Given the description of an element on the screen output the (x, y) to click on. 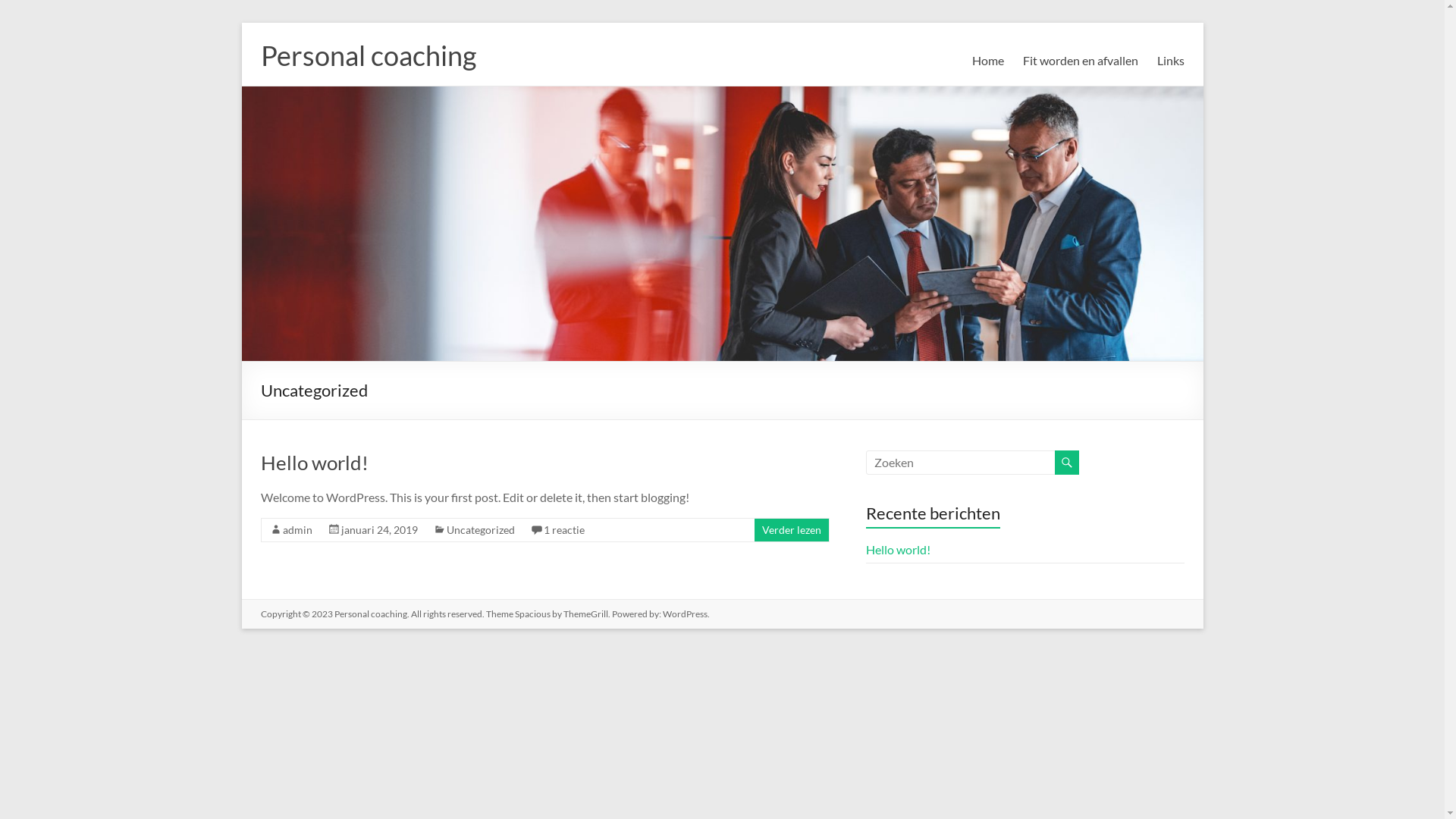
Personal coaching Element type: text (368, 55)
januari 24, 2019 Element type: text (379, 529)
WordPress Element type: text (684, 613)
Hello world! Element type: text (898, 549)
Links Element type: text (1170, 60)
Spacious Element type: text (531, 613)
Home Element type: text (988, 60)
Uncategorized Element type: text (479, 529)
Verder lezen Element type: text (790, 529)
1 reactie Element type: text (562, 529)
Fit worden en afvallen Element type: text (1079, 60)
admin Element type: text (296, 529)
Skip to content Element type: text (241, 21)
Hello world! Element type: text (314, 462)
Personal coaching Element type: text (369, 613)
